Given the description of an element on the screen output the (x, y) to click on. 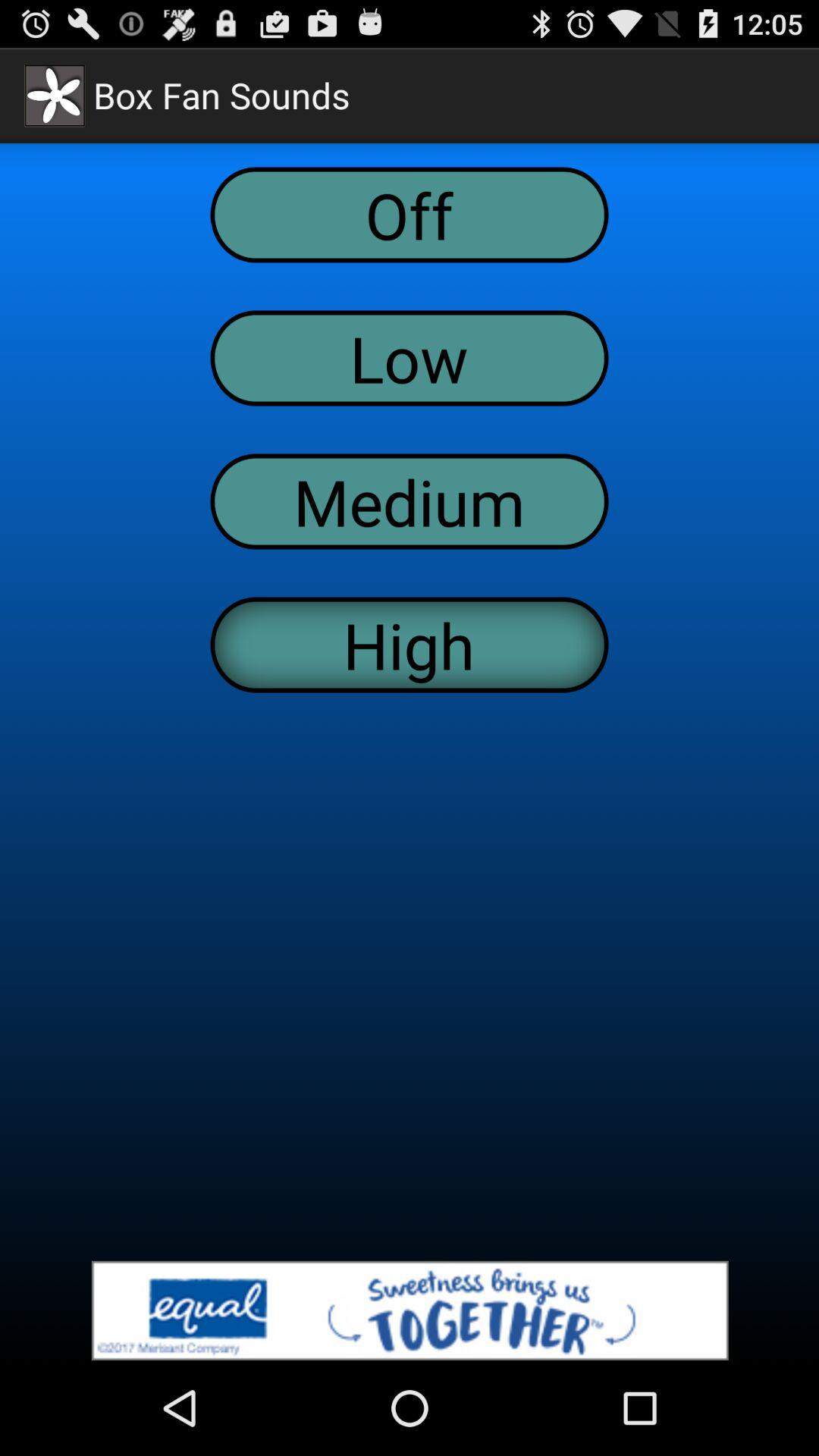
advertisement area (409, 1310)
